Given the description of an element on the screen output the (x, y) to click on. 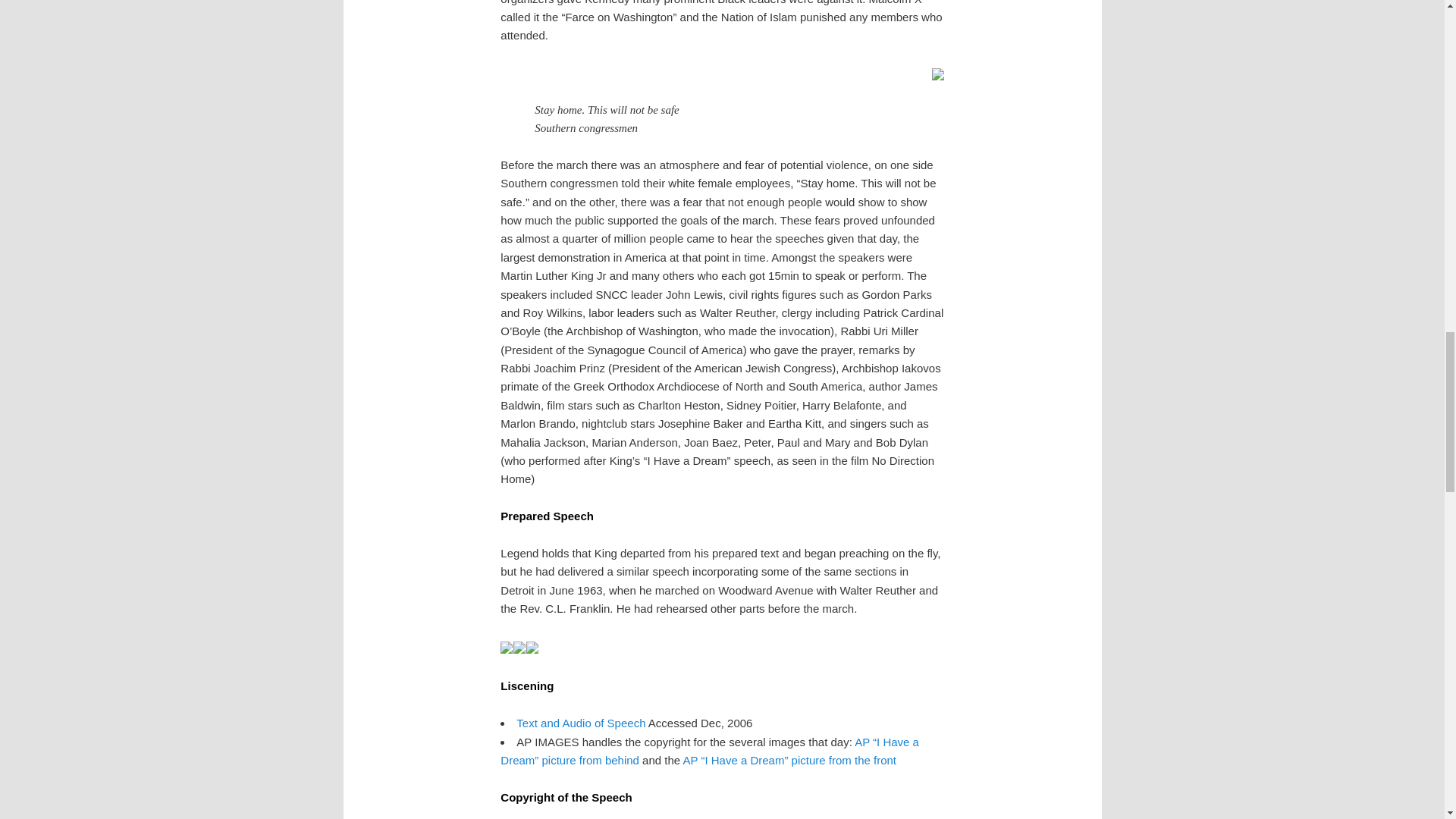
Text and Audio of Speech (580, 722)
